Given the description of an element on the screen output the (x, y) to click on. 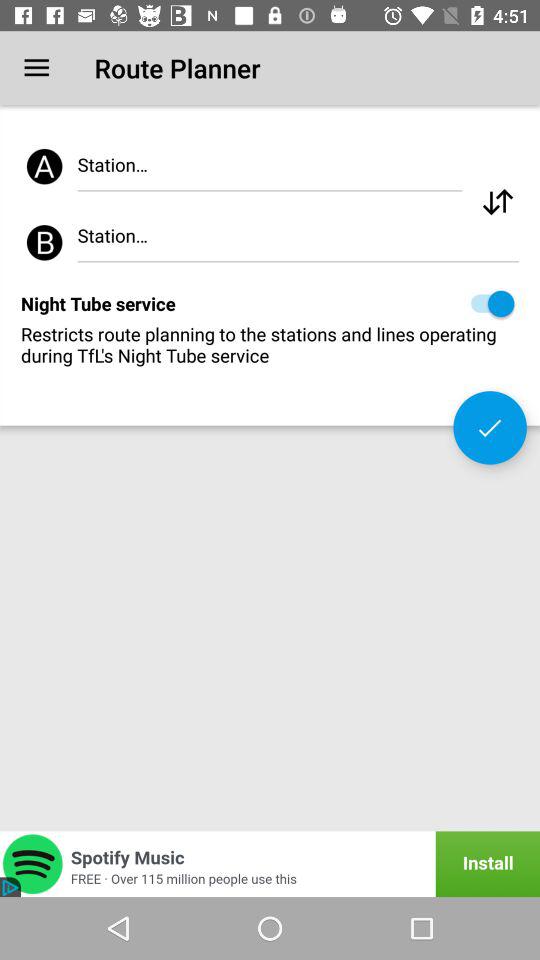
approve (489, 427)
